Given the description of an element on the screen output the (x, y) to click on. 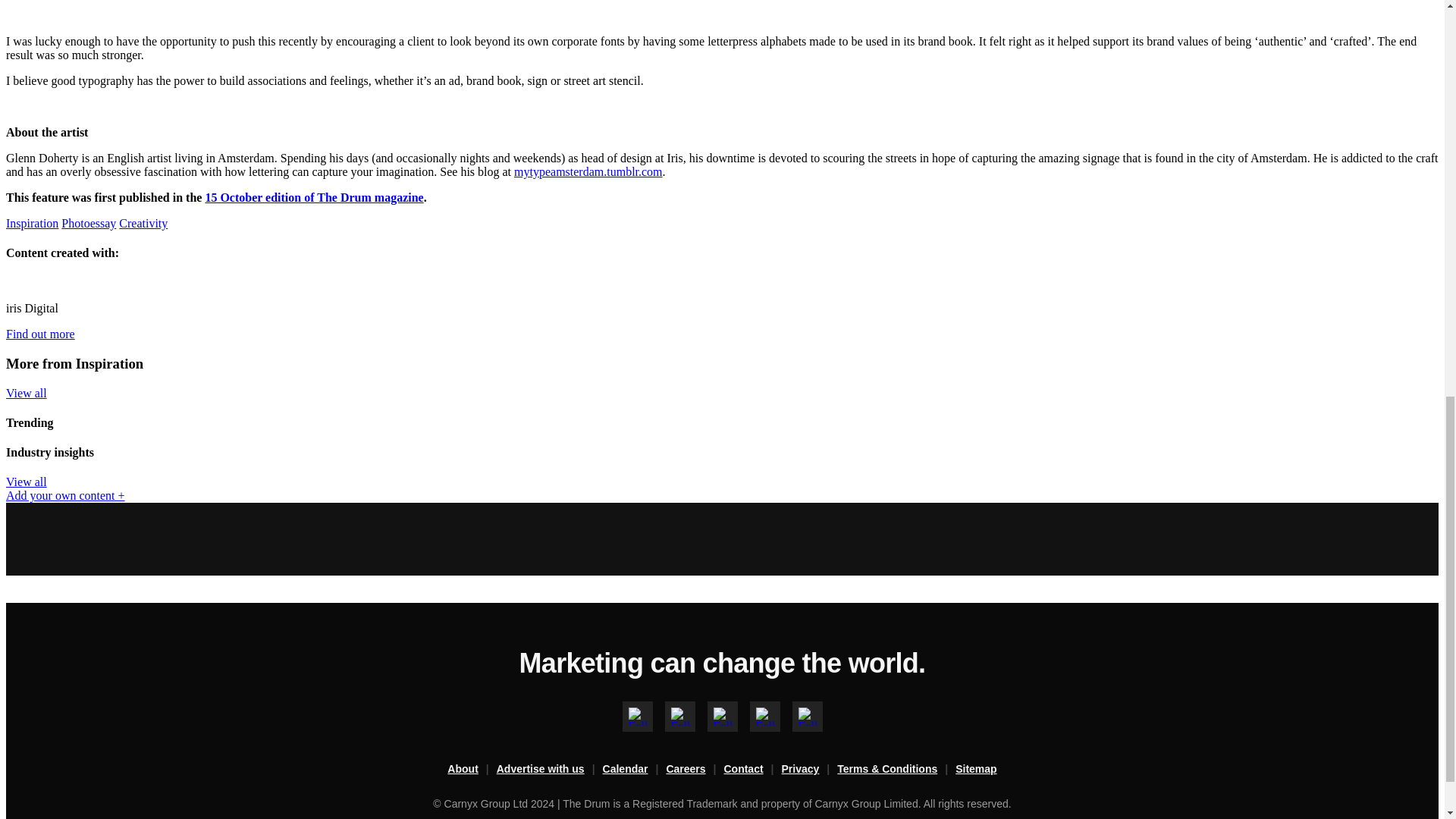
View all (25, 481)
View all (25, 392)
Photoessay (88, 223)
Advertise with us (549, 769)
Creativity (143, 223)
Find out more (40, 333)
mytypeamsterdam.tumblr.com (587, 171)
15 October edition of The Drum magazine (314, 196)
About (471, 769)
Inspiration (31, 223)
